Given the description of an element on the screen output the (x, y) to click on. 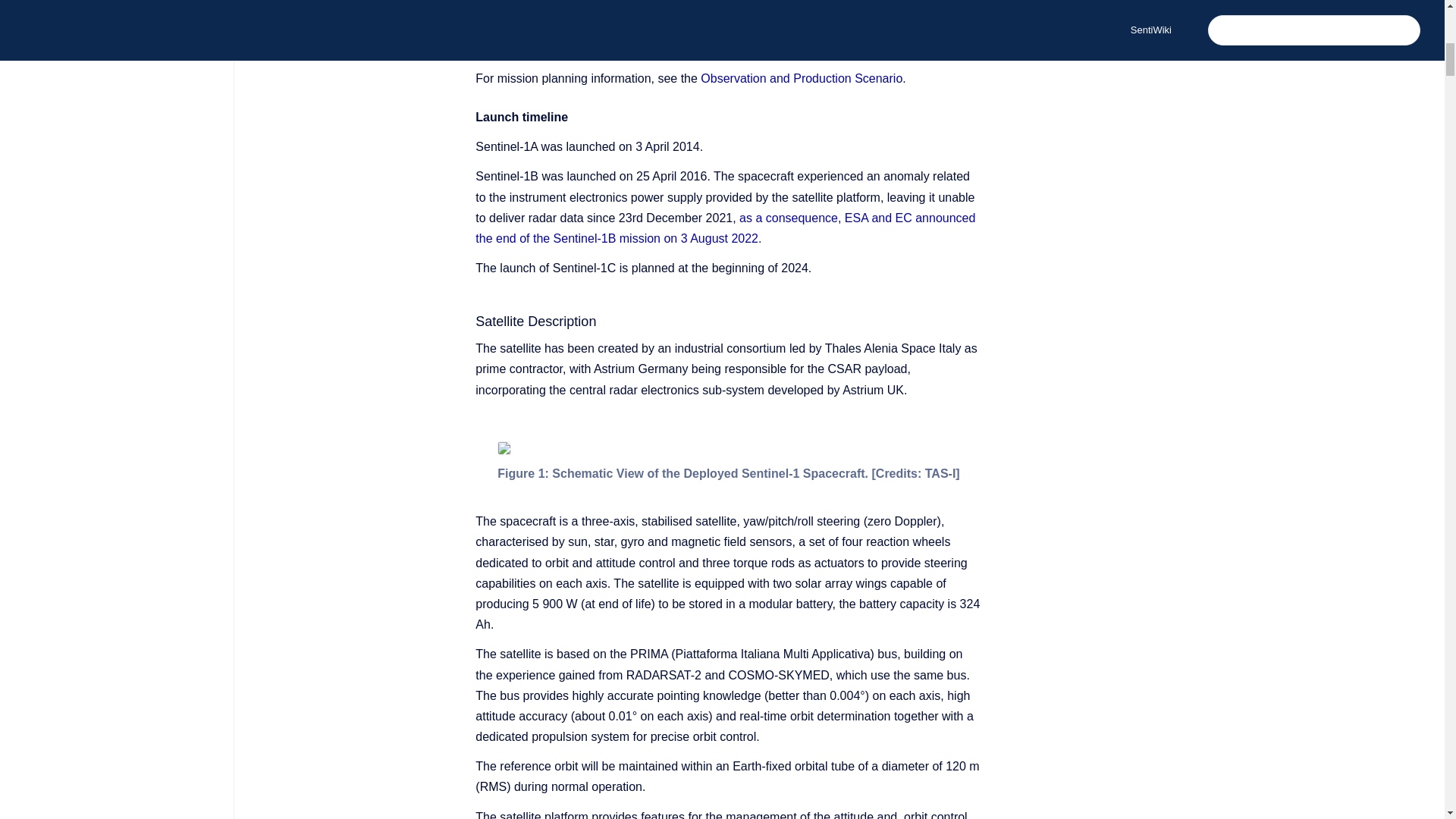
Emergency response (565, 0)
Observation and Production Scenario (801, 78)
